Given the description of an element on the screen output the (x, y) to click on. 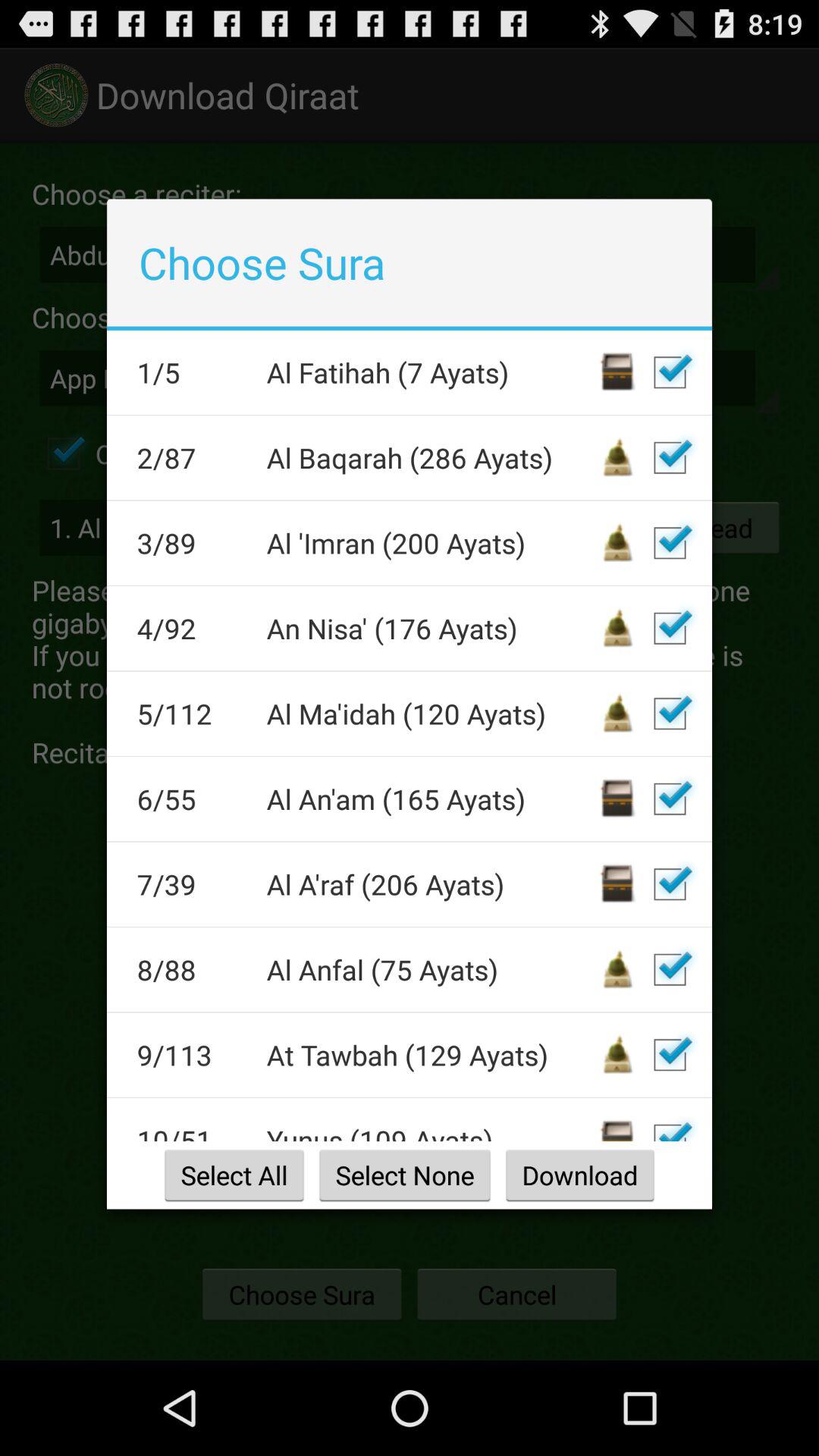
turn off item below 9/113 icon (191, 1131)
